Given the description of an element on the screen output the (x, y) to click on. 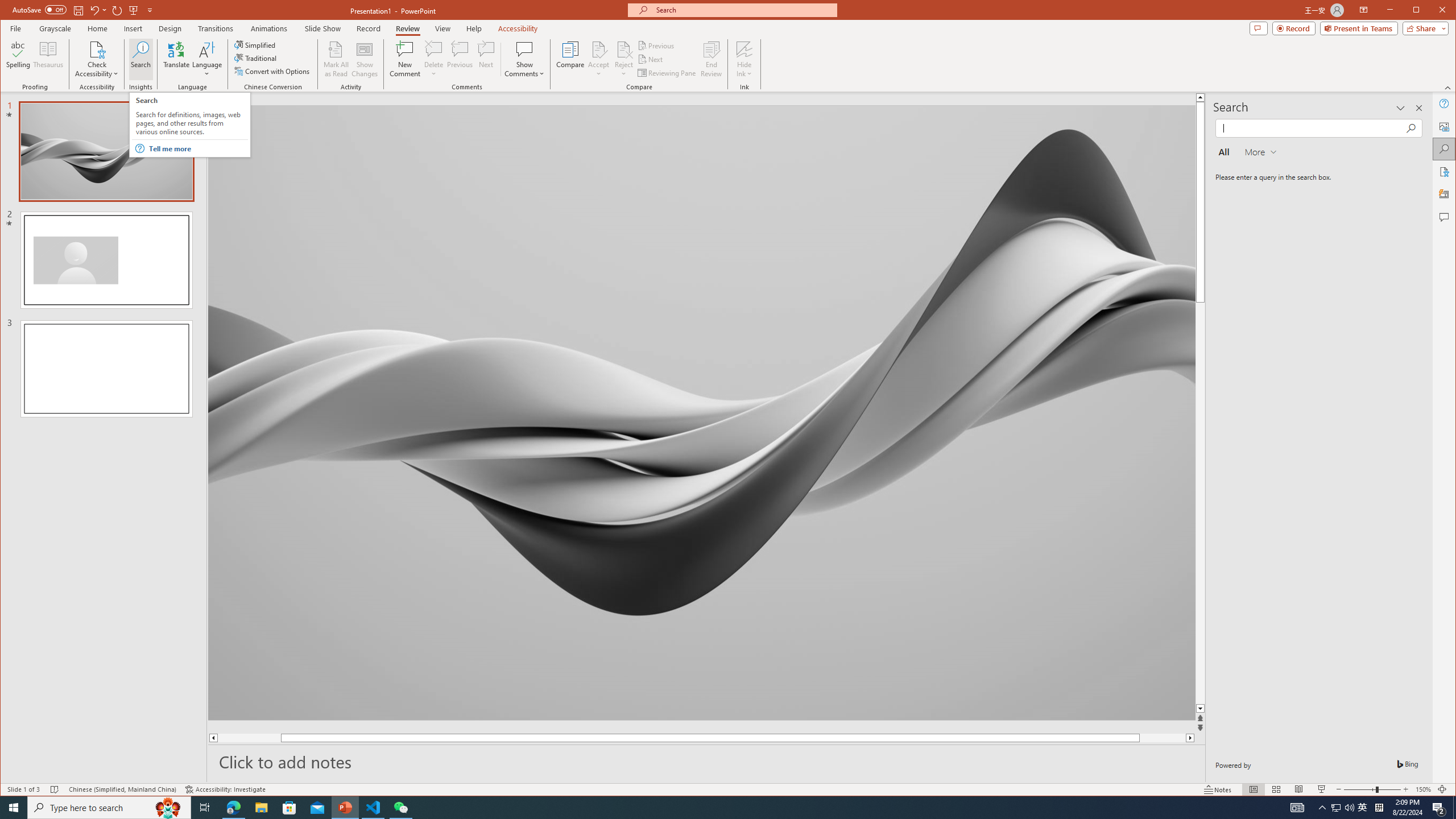
Language (207, 59)
Start (13, 807)
Action Center, 2 new notifications (1439, 807)
Microsoft Edge - 1 running window (233, 807)
Search (140, 59)
Translate (1362, 807)
Page down (175, 59)
